Given the description of an element on the screen output the (x, y) to click on. 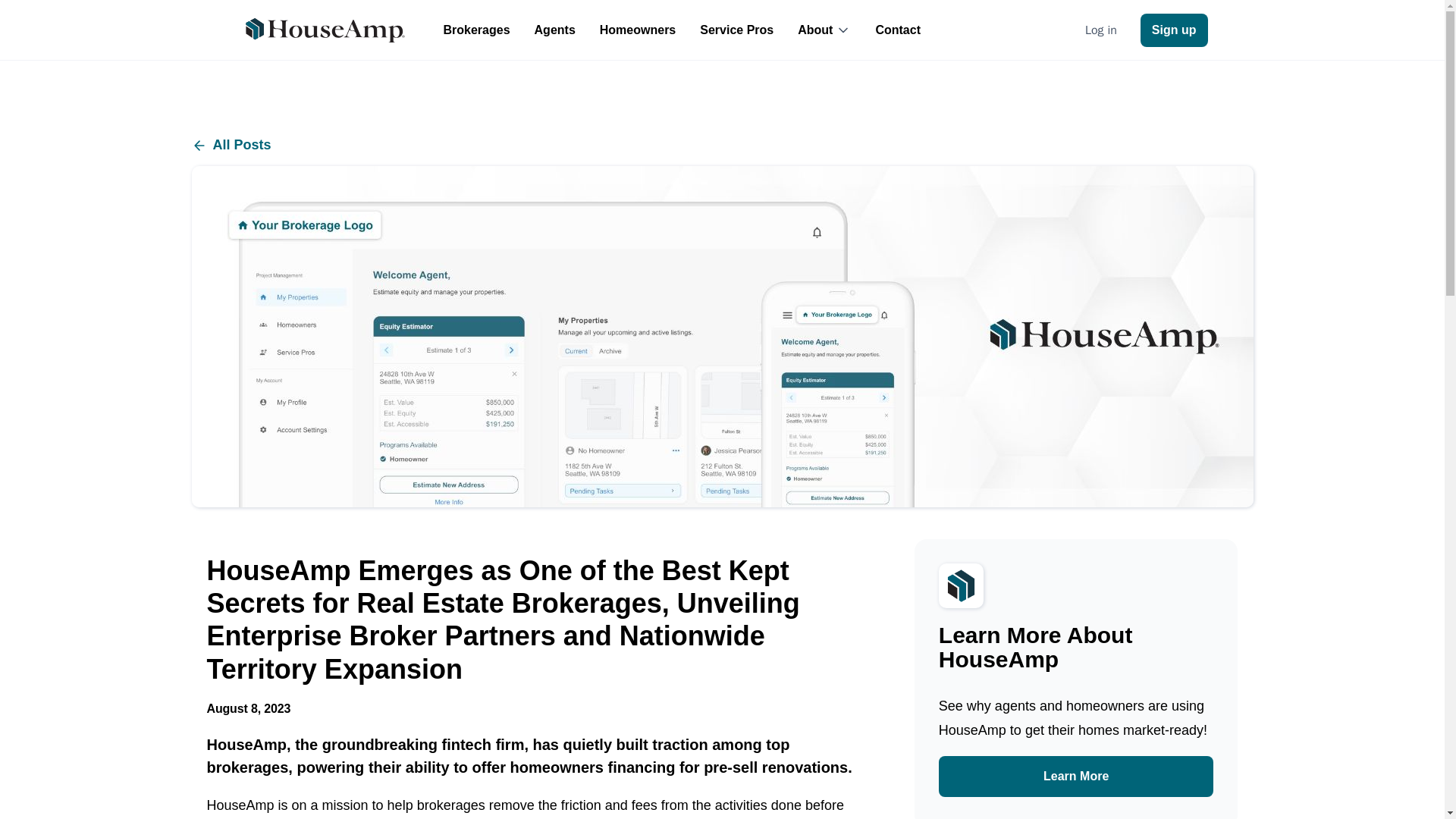
Contact (898, 29)
All Posts (721, 145)
Sign up (1174, 29)
Agents (555, 29)
Service Pros (736, 29)
Log in (1100, 29)
Homeowners (637, 29)
Learn More (1076, 775)
Brokerages (475, 29)
